Given the description of an element on the screen output the (x, y) to click on. 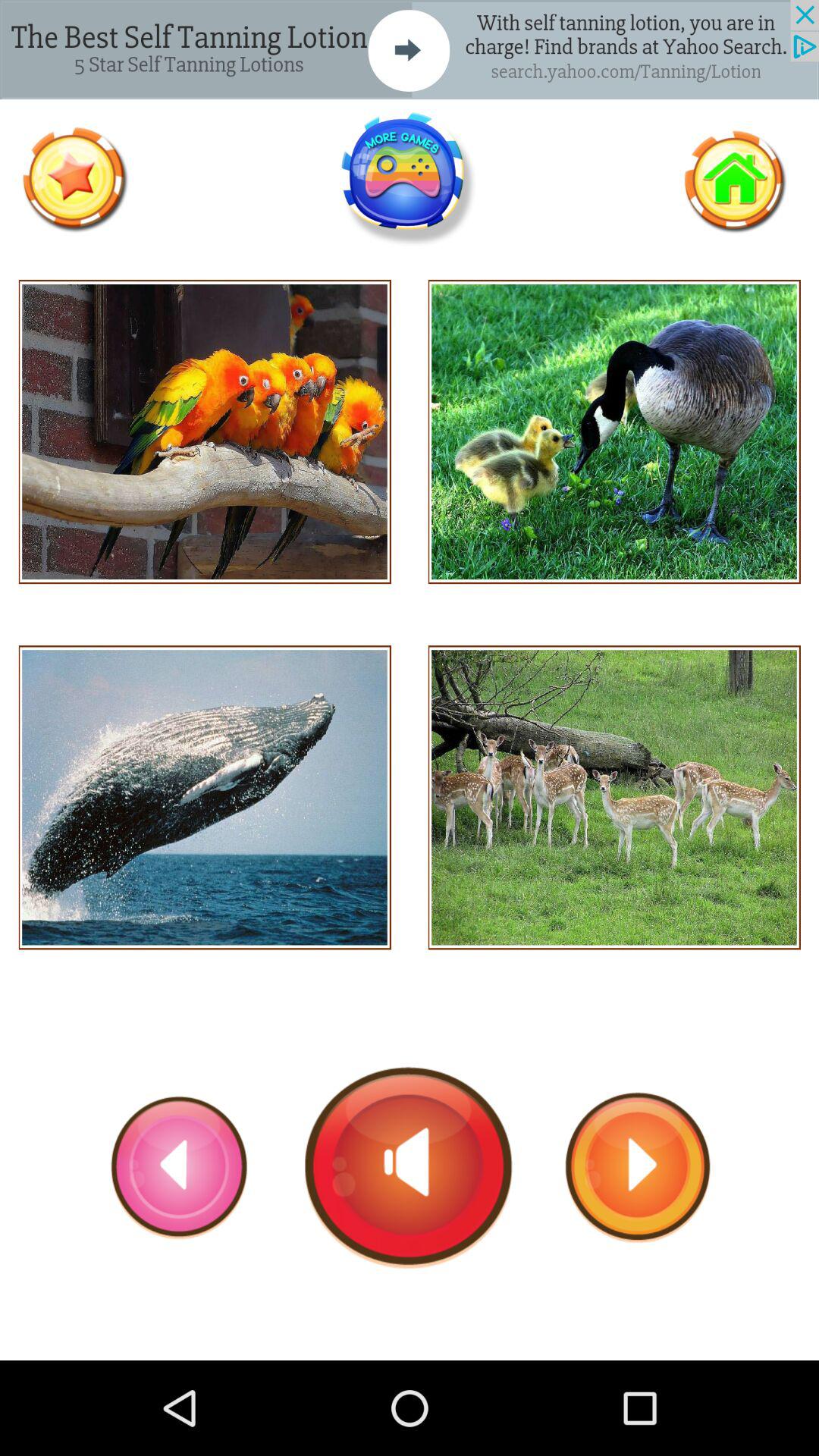
photo of animals (614, 431)
